Given the description of an element on the screen output the (x, y) to click on. 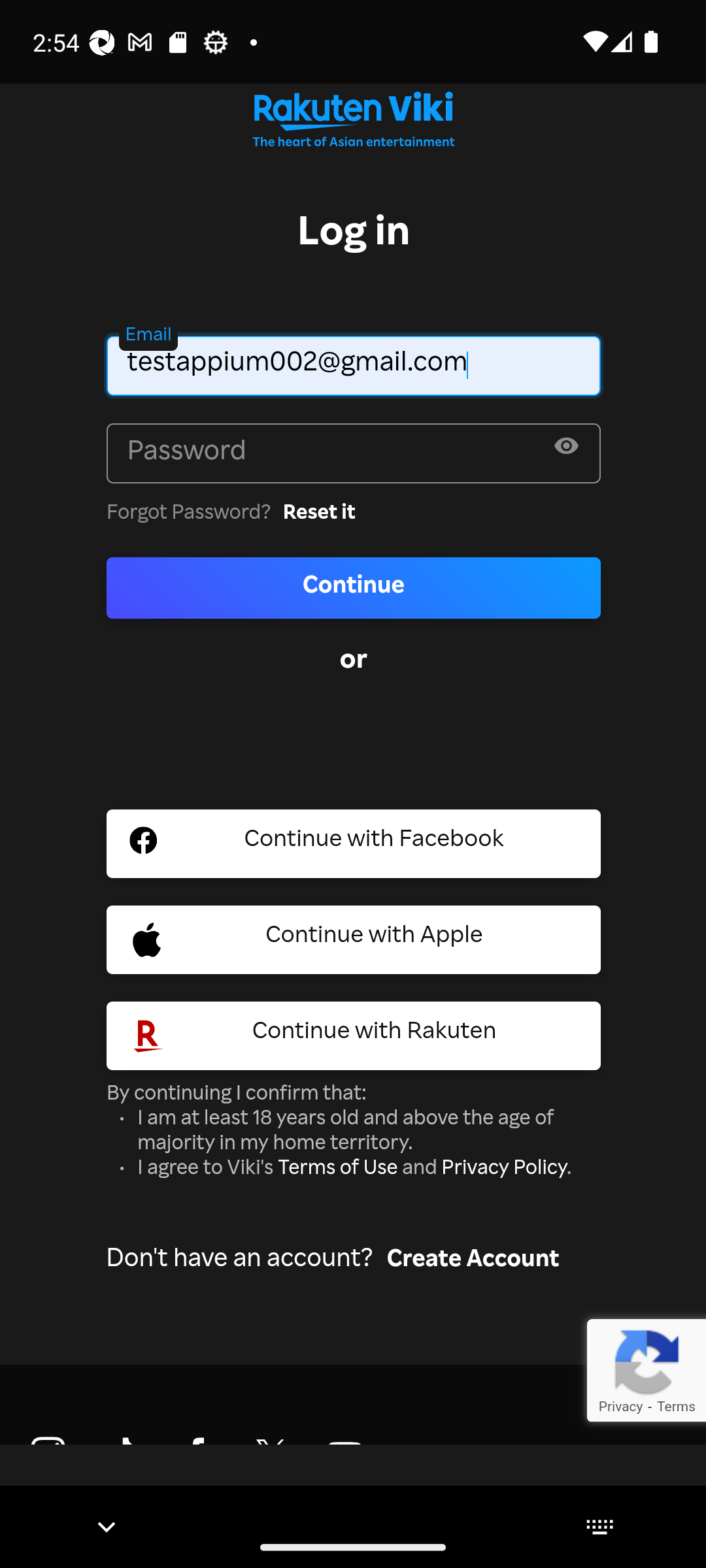
Go to homepage Rakuten Viki (352, 124)
testappium002@gmail.com (353, 364)
 (566, 450)
Reset it (318, 514)
Continue (353, 587)
Facebook Social Sign In Button (353, 844)
Apple Social Sign In Button (353, 939)
Rakuten Social Sign In Button (353, 1035)
Terms of Use (337, 1169)
Privacy Policy (503, 1169)
Create Account (472, 1261)
Privacy (620, 1406)
Terms (675, 1406)
